Given the description of an element on the screen output the (x, y) to click on. 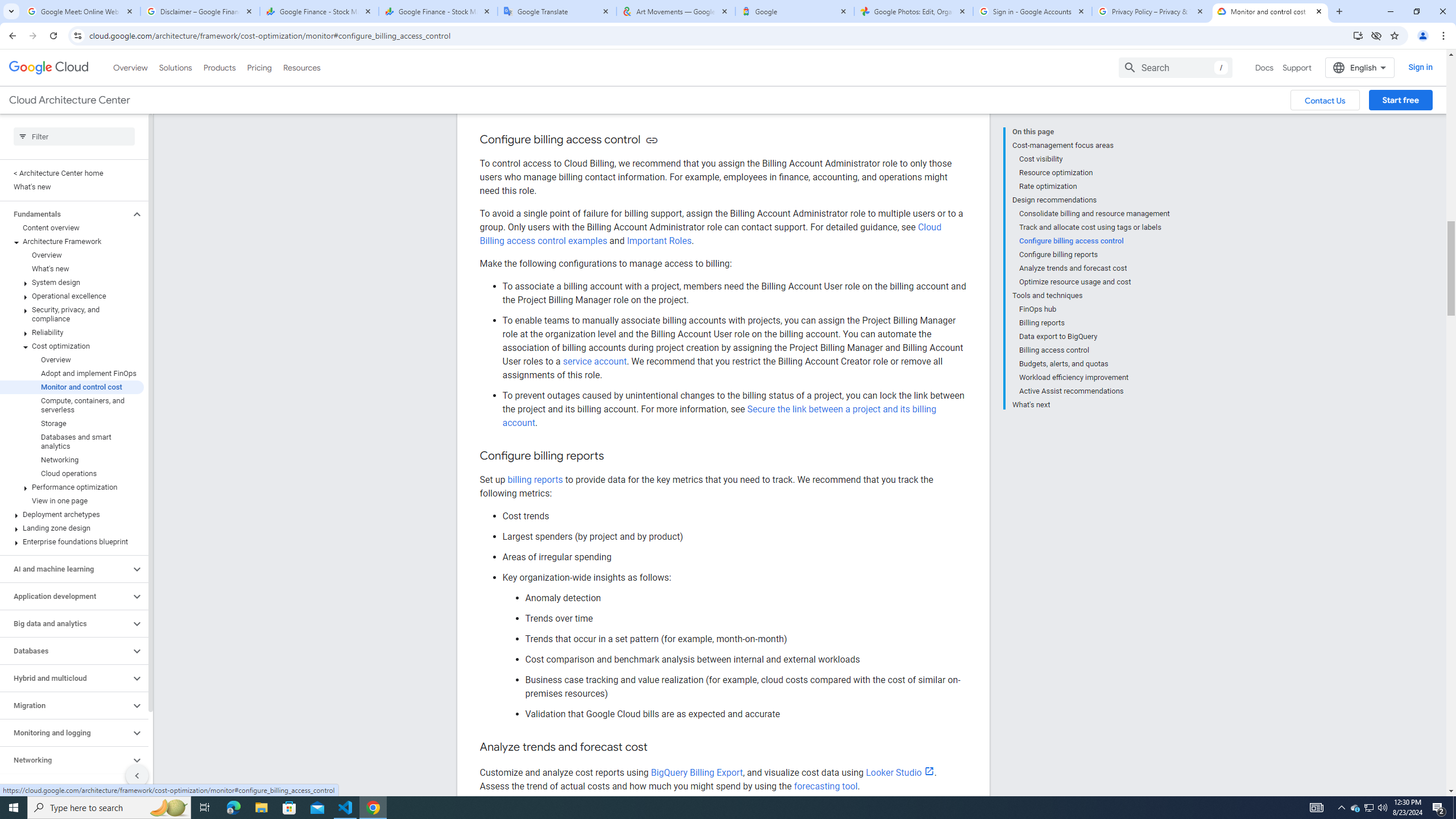
Networking (72, 459)
Migration (64, 705)
Architecture Framework (72, 241)
Monitoring and logging (64, 732)
Security, privacy, and compliance (72, 314)
BigQuery Billing Export (697, 772)
Reliability (72, 332)
Configure billing reports (1094, 254)
Cloud Architecture Center (68, 100)
Configure billing access control (1094, 241)
